Given the description of an element on the screen output the (x, y) to click on. 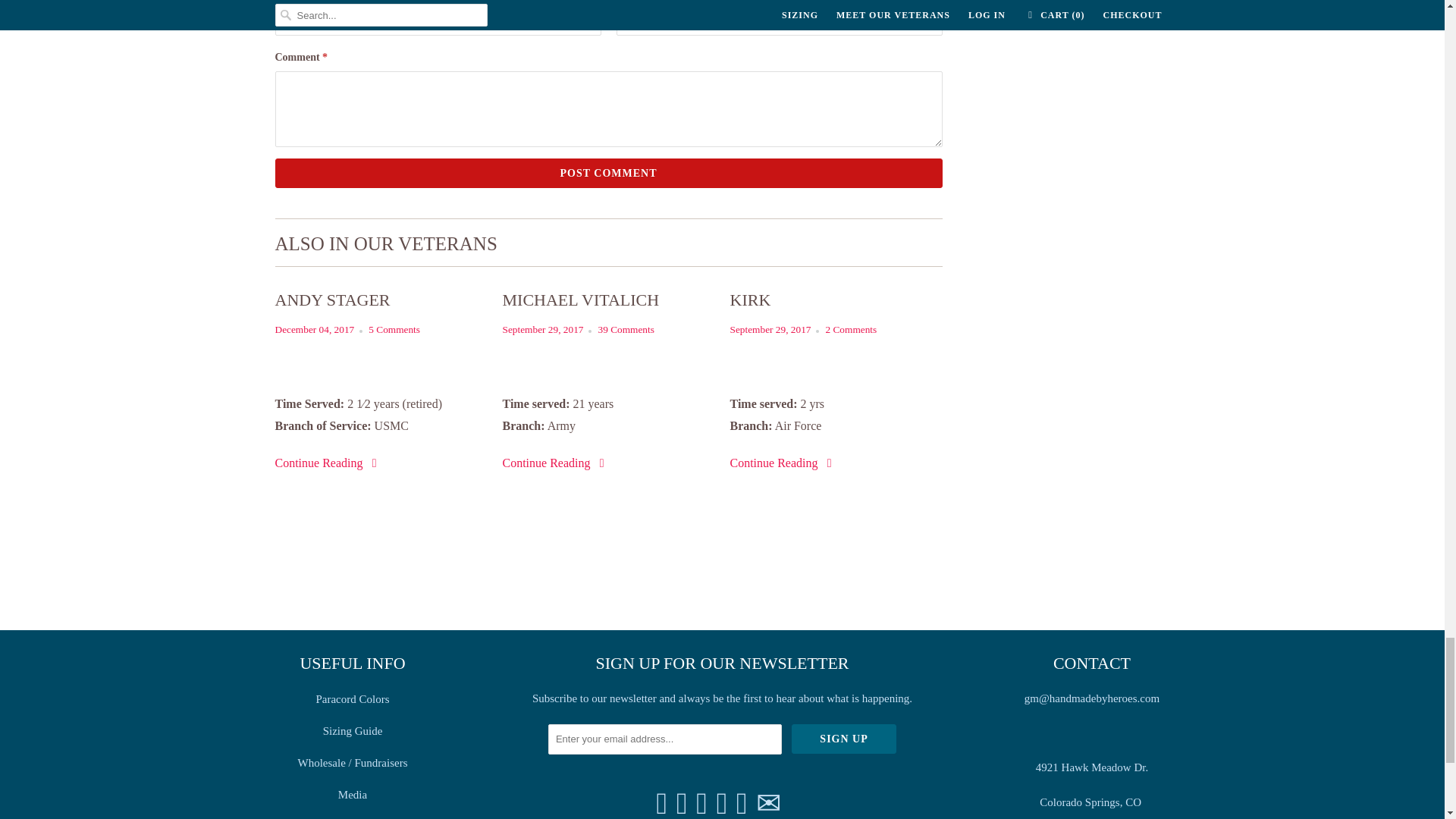
Andy Stager (327, 462)
Michael Vitalich (608, 300)
Kirk (781, 462)
Sign Up (844, 738)
Andy Stager (380, 300)
Post comment (608, 173)
Michael Vitalich (554, 462)
Kirk (835, 300)
